Given the description of an element on the screen output the (x, y) to click on. 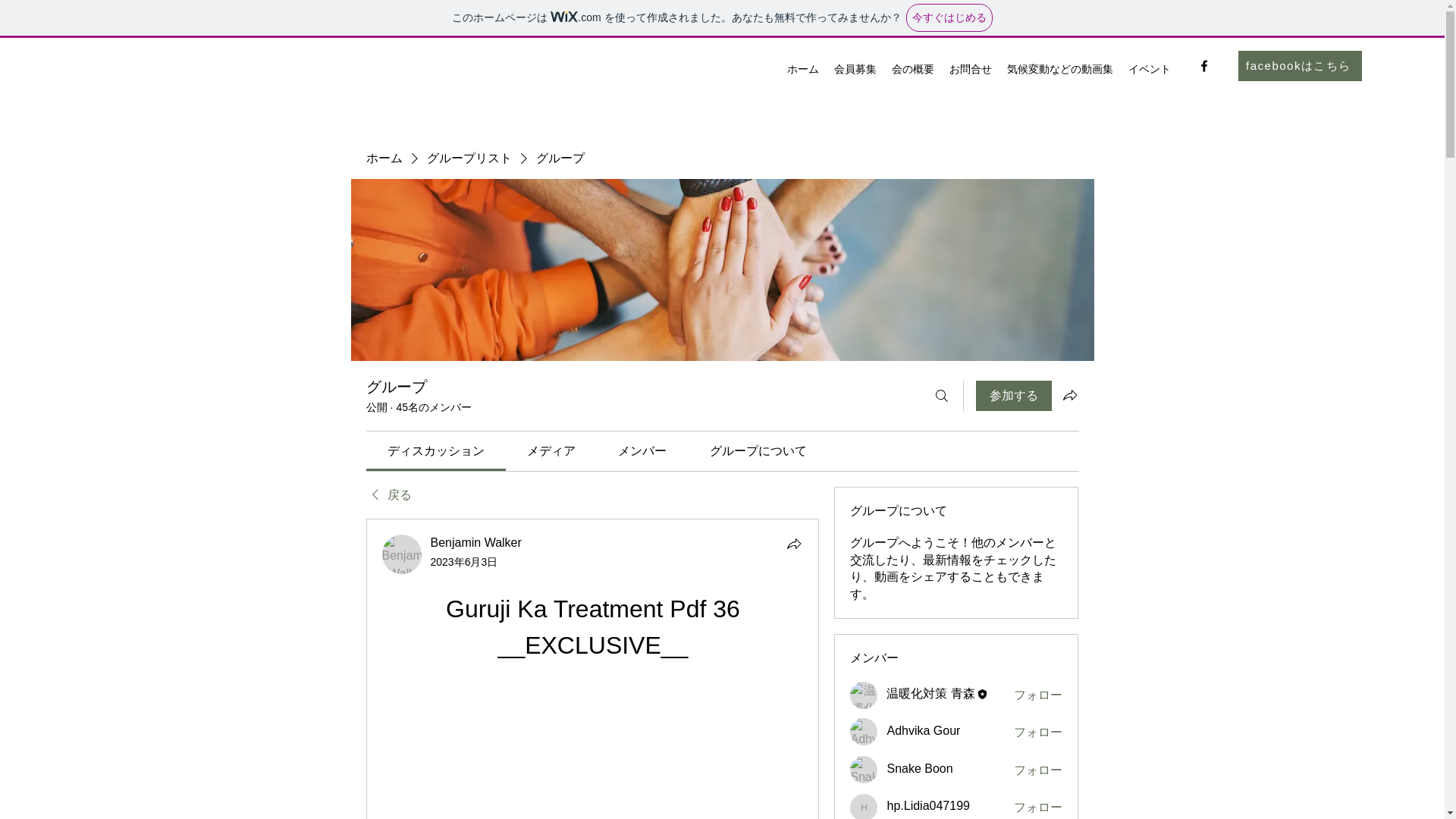
Snake Boon (863, 768)
hp.Lidia047199 (863, 806)
Adhvika Gour (863, 731)
Benjamin Walker (401, 554)
